Given the description of an element on the screen output the (x, y) to click on. 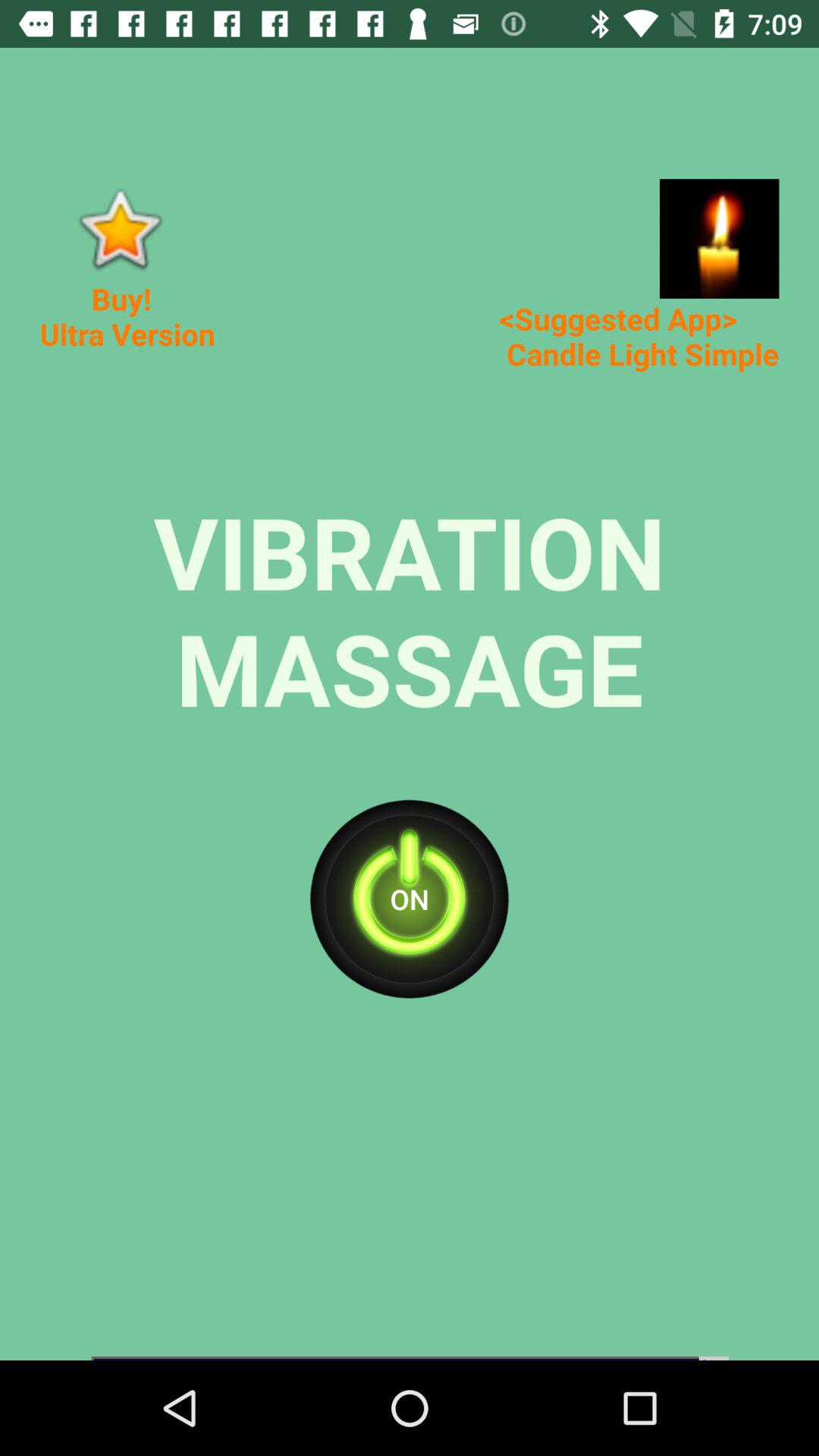
advertisement (719, 238)
